Given the description of an element on the screen output the (x, y) to click on. 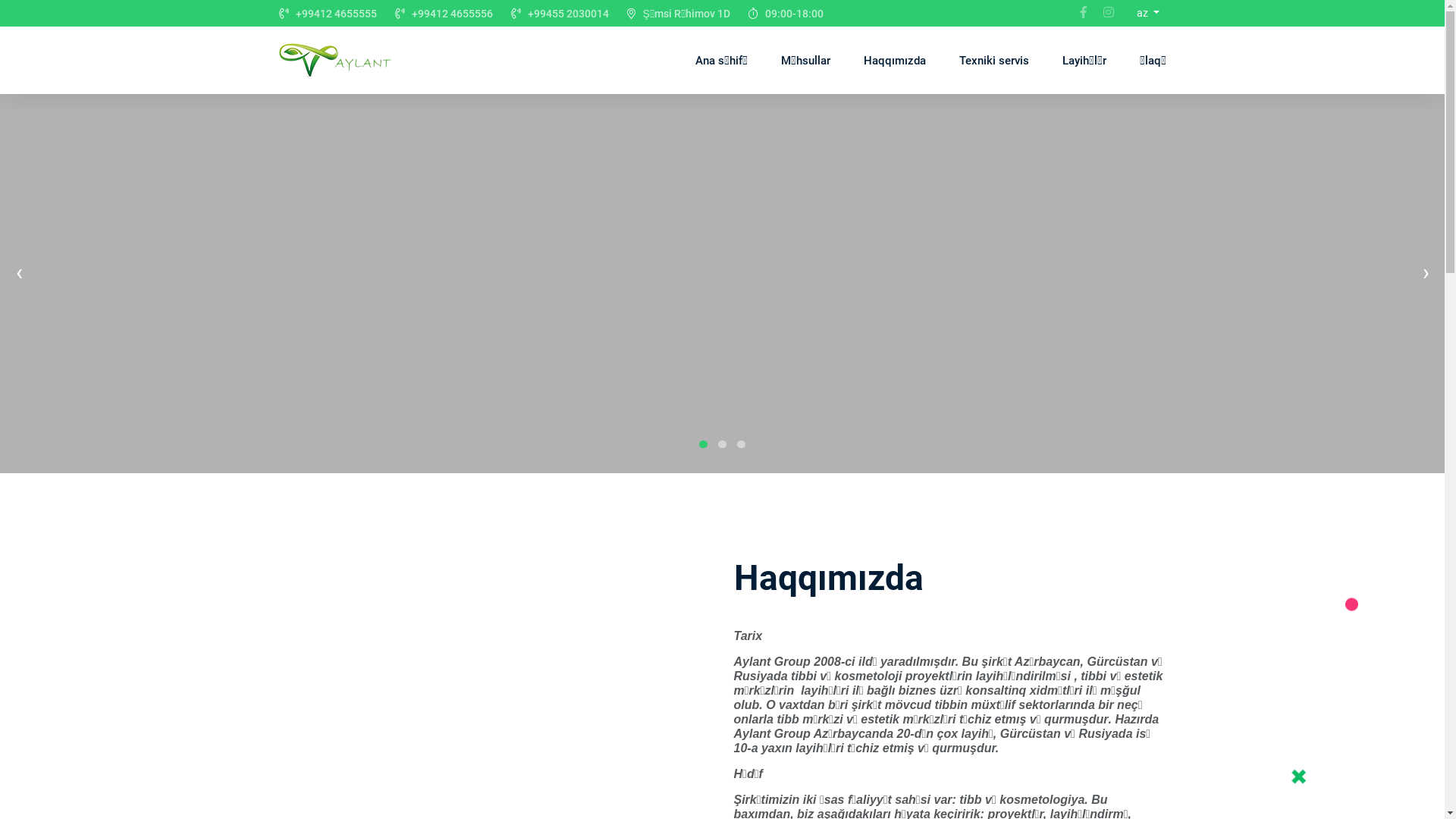
az Element type: text (1147, 13)
+99412 4655555 Element type: text (335, 13)
+99455 2030014 Element type: text (567, 13)
+99412 4655556 Element type: text (451, 13)
Texniki servis Element type: text (993, 60)
